Given the description of an element on the screen output the (x, y) to click on. 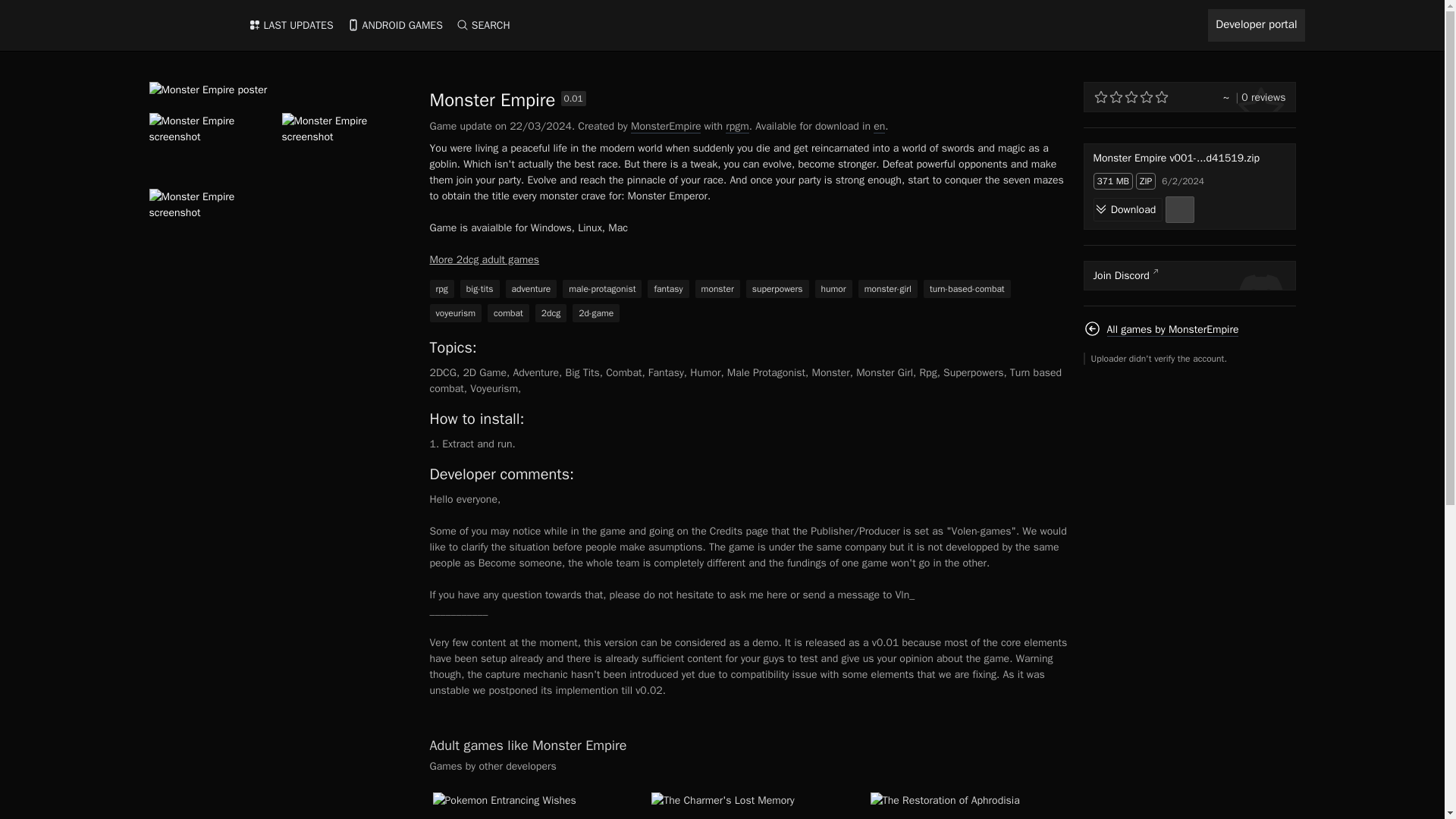
2d-game (596, 312)
Download from mega.nz (1179, 208)
Monster Empire screenshot (214, 225)
The Restoration of Aphrodisia (967, 805)
Developer portal (1256, 25)
Join Discord (1189, 275)
More 2dcg adult games (483, 259)
superpowers (777, 288)
All games by MonsterEmpire (1161, 328)
Pokemon Entrancing Wishes 5.05 (529, 805)
LAST UPDATES (290, 25)
Monster Empire v001-d41519.zip (1189, 157)
MonsterEmpire (665, 126)
720zone (187, 25)
